Given the description of an element on the screen output the (x, y) to click on. 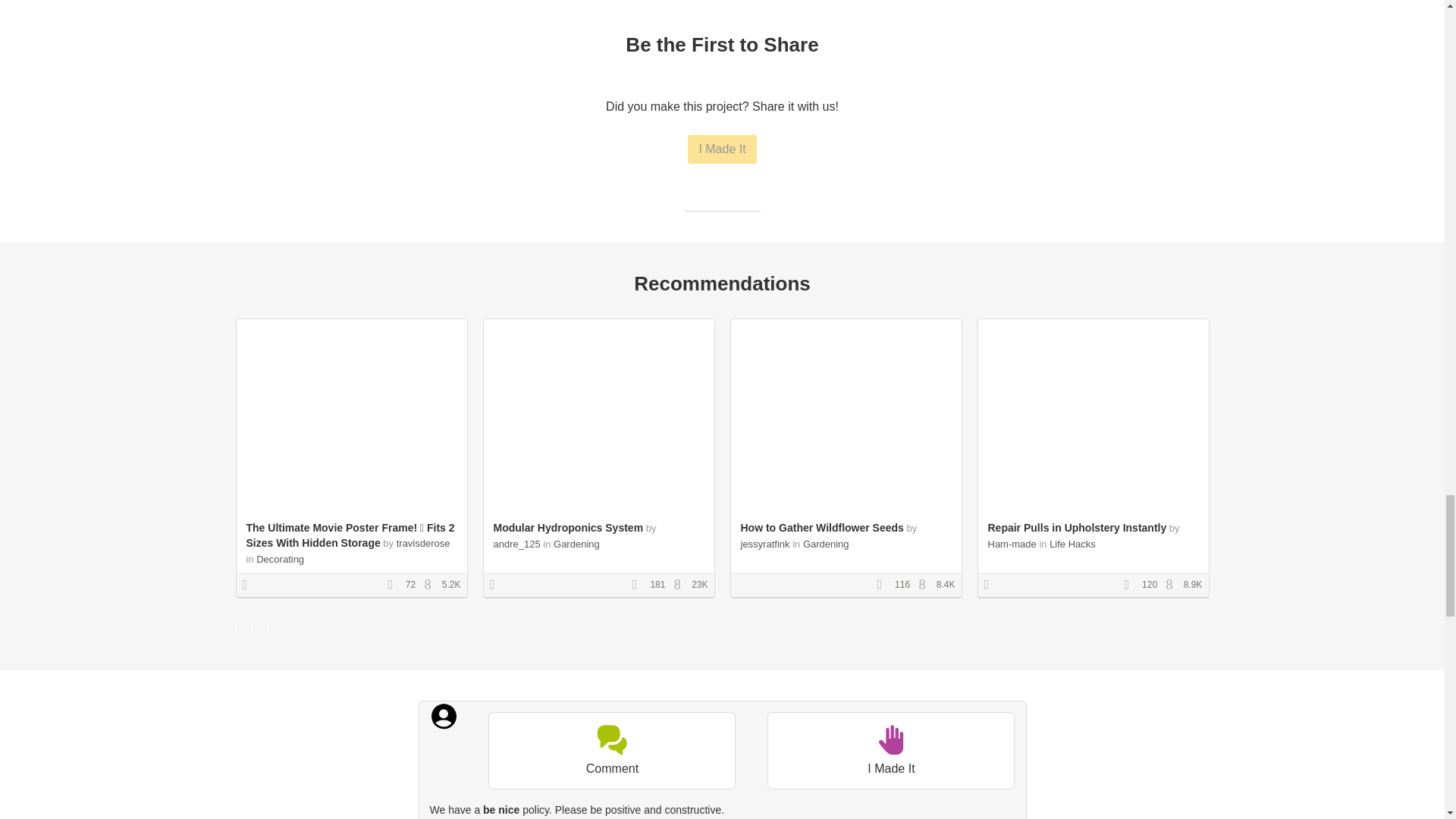
travisderose (422, 542)
I Made It (721, 149)
Contest Winner (991, 584)
Views Count (681, 584)
Views Count (925, 584)
Gardening (576, 543)
Favorites Count (639, 584)
Views Count (1173, 584)
Favorites Count (884, 584)
Modular Hydroponics System (568, 527)
Views Count (431, 584)
Contest Winner (497, 584)
Favorites Count (395, 584)
Contest Winner (250, 584)
Decorating (280, 559)
